Given the description of an element on the screen output the (x, y) to click on. 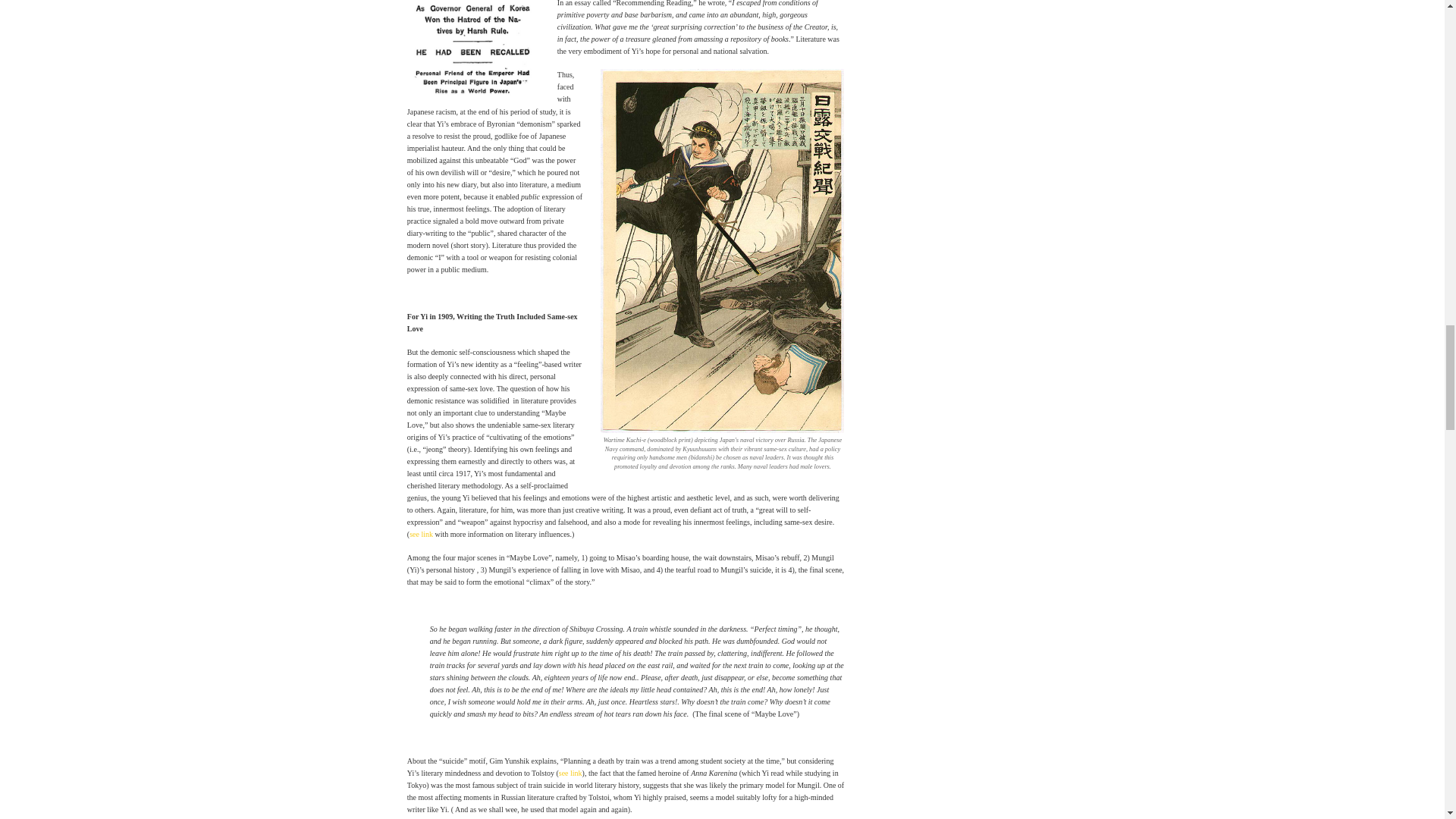
ito (472, 53)
see link (570, 773)
see link (420, 533)
